Given the description of an element on the screen output the (x, y) to click on. 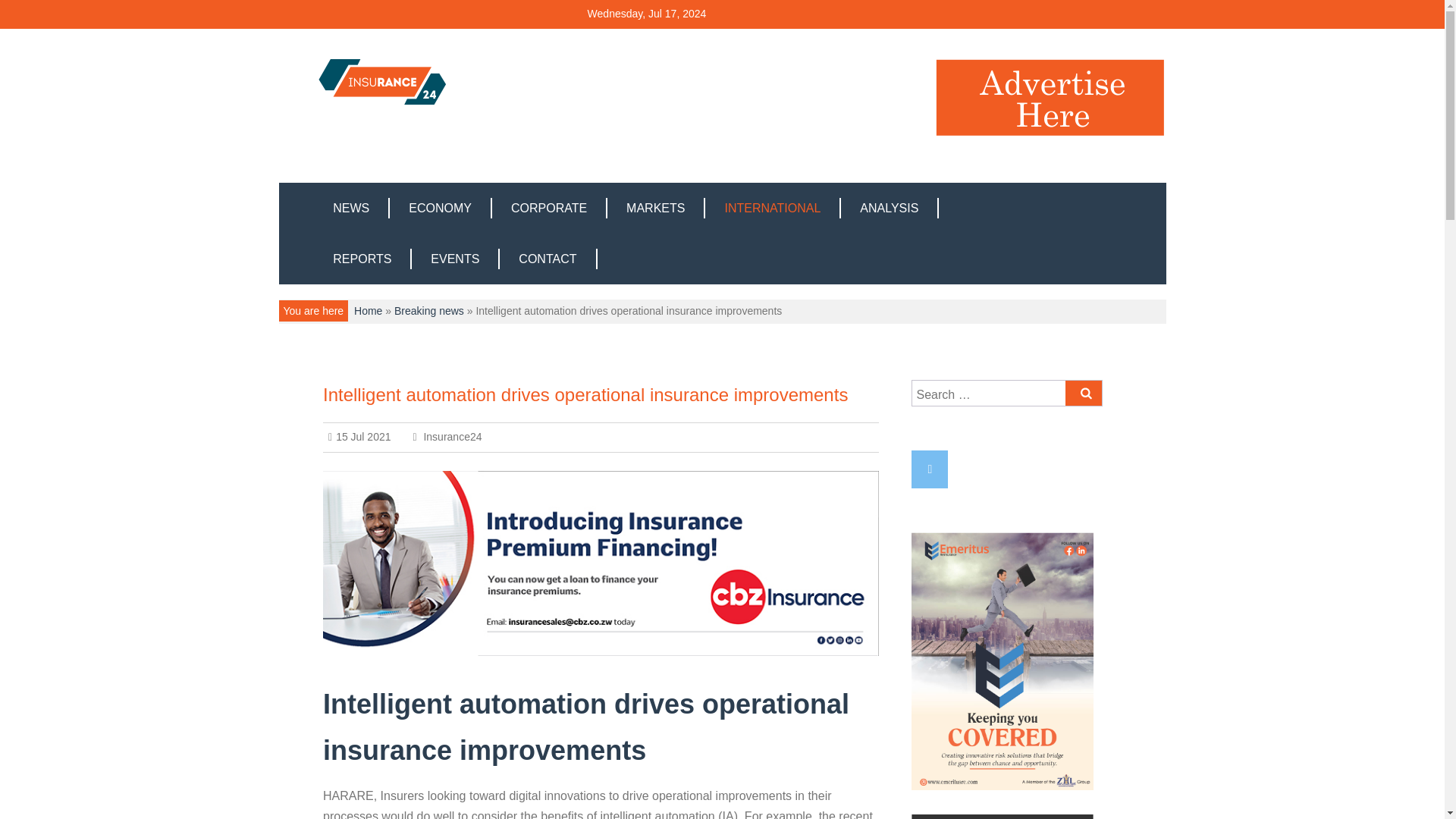
Search (1083, 392)
NEWS (352, 208)
Home (367, 310)
ECONOMY (441, 208)
Breaking news (429, 310)
Search (1083, 392)
EVENTS (455, 258)
CONTACT (547, 258)
INTERNATIONAL (772, 208)
Insurance24 (446, 436)
ANALYSIS (890, 208)
REPORTS (363, 258)
MARKETS (655, 208)
CORPORATE (549, 208)
